Given the description of an element on the screen output the (x, y) to click on. 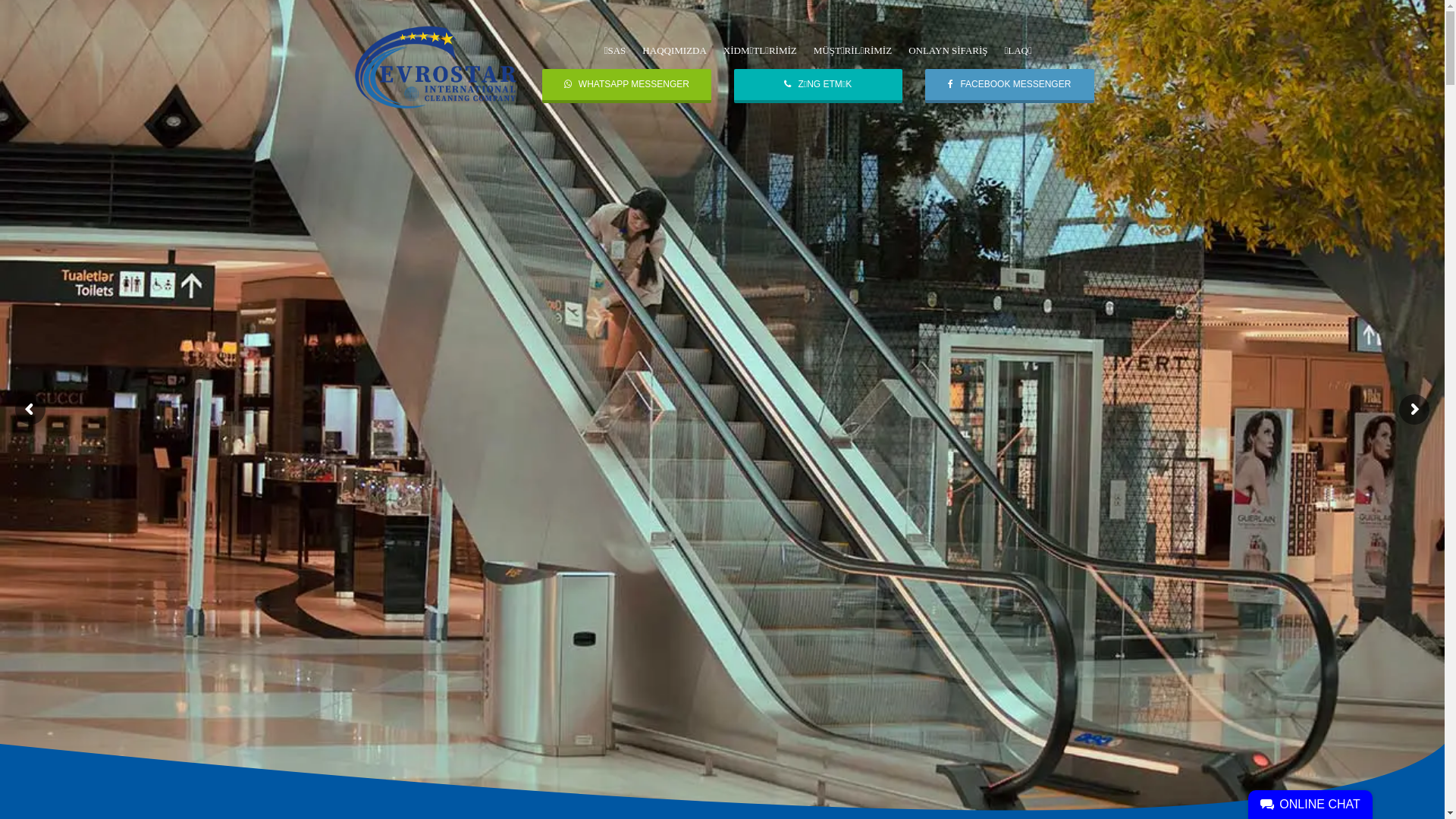
FACEBOOK MESSENGER Element type: text (1009, 86)
WHATSAPP MESSENGER Element type: text (626, 86)
HAQQIMIZDA Element type: text (674, 50)
